Given the description of an element on the screen output the (x, y) to click on. 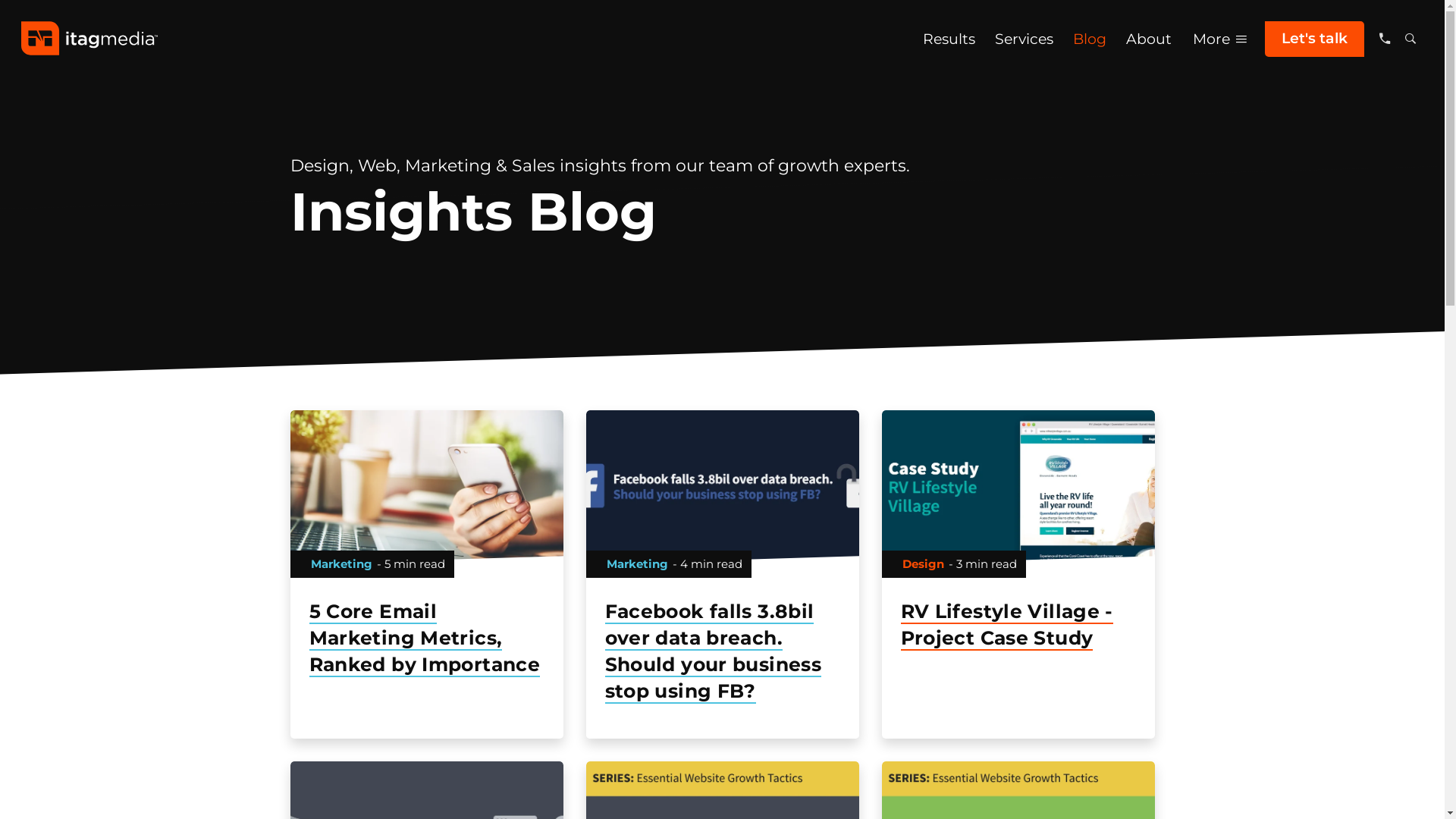
Design Element type: text (922, 563)
Results Element type: text (949, 39)
Search our website Element type: text (1410, 38)
5 Core Email Marketing Metrics, Ranked by Importance Element type: text (425, 638)
1300 79 55 41 Element type: text (1384, 38)
Blog Element type: text (1089, 39)
Services Element type: text (1024, 39)
Let's talk Element type: text (1314, 38)
RV Lifestyle Village - Project Case Study Element type: text (1017, 624)
More Element type: text (1221, 38)
About Element type: text (1148, 39)
Marketing Element type: text (341, 563)
Marketing Element type: text (637, 563)
